Given the description of an element on the screen output the (x, y) to click on. 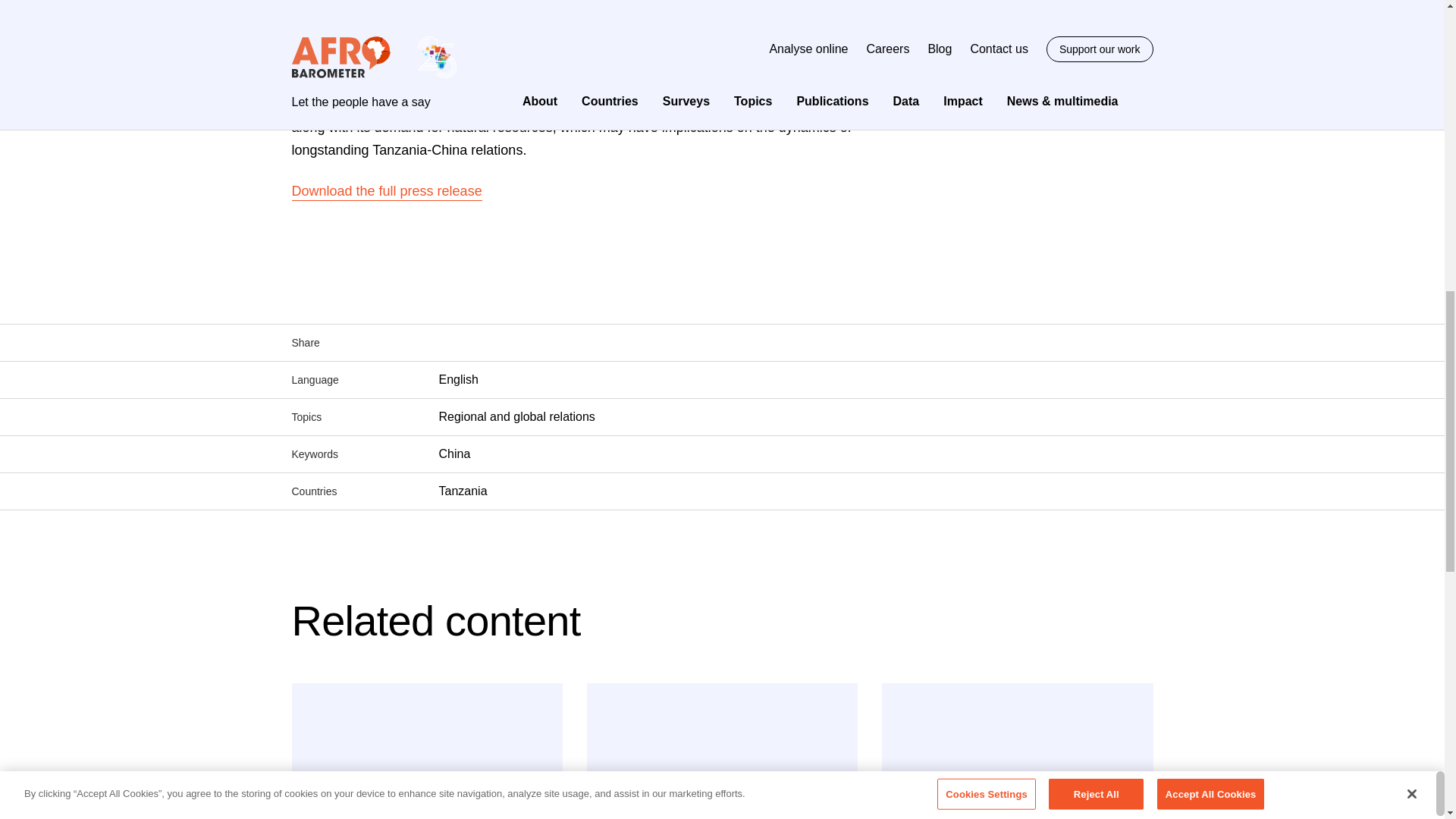
Share on Facebook (443, 342)
Share on LinkedIn (507, 342)
Search for Tanzania (462, 490)
Share on email (539, 342)
Search for English (457, 379)
Search for Regional and global relations (516, 415)
Search for China (454, 453)
Share on Twitter (475, 342)
